Given the description of an element on the screen output the (x, y) to click on. 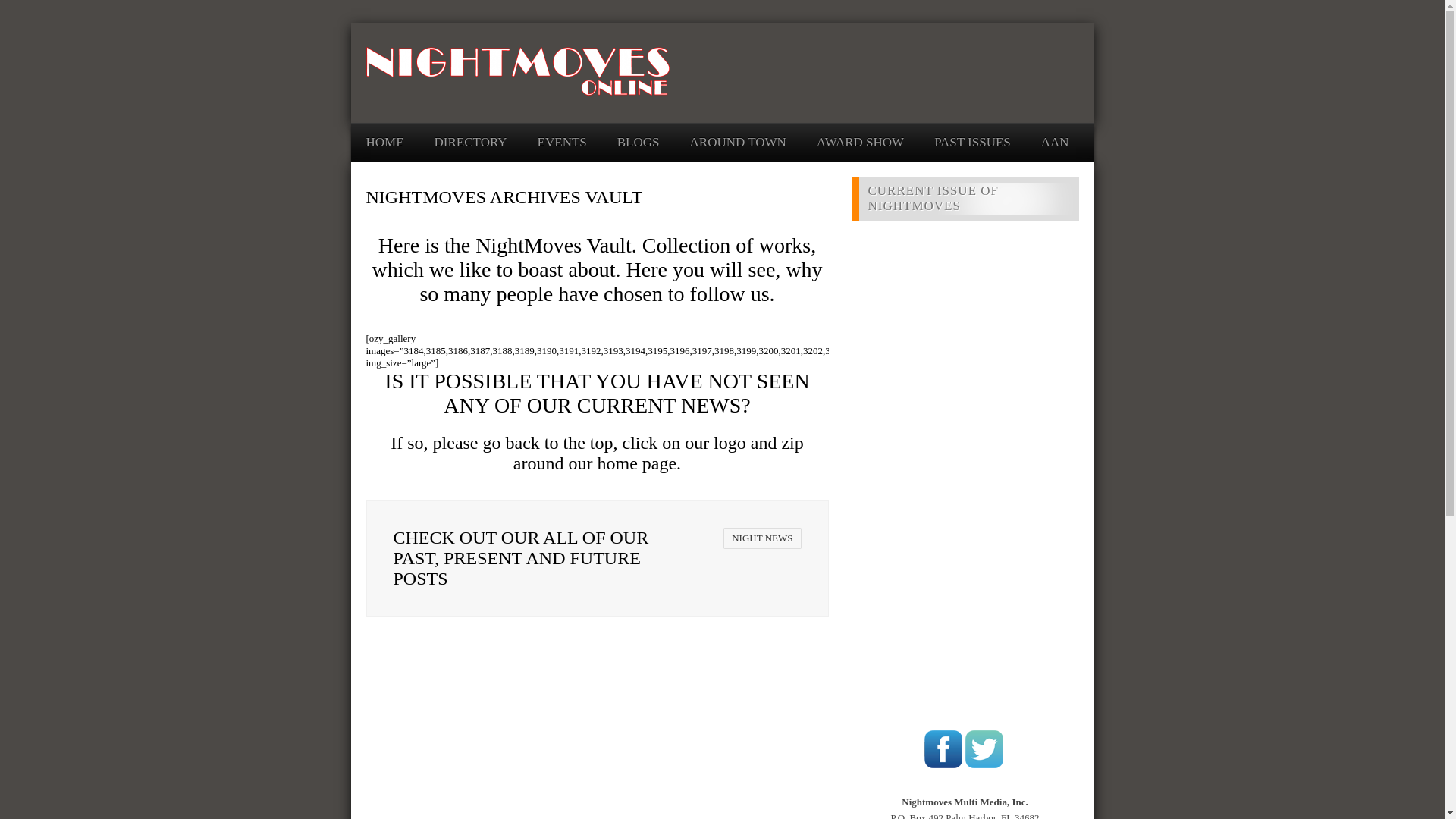
AWARD SHOW (860, 142)
BLOGS (638, 142)
DIRECTORY (469, 142)
AROUND TOWN (738, 142)
HOME (384, 142)
EVENTS (561, 142)
PAST ISSUES (972, 142)
AAN (1054, 142)
